Given the description of an element on the screen output the (x, y) to click on. 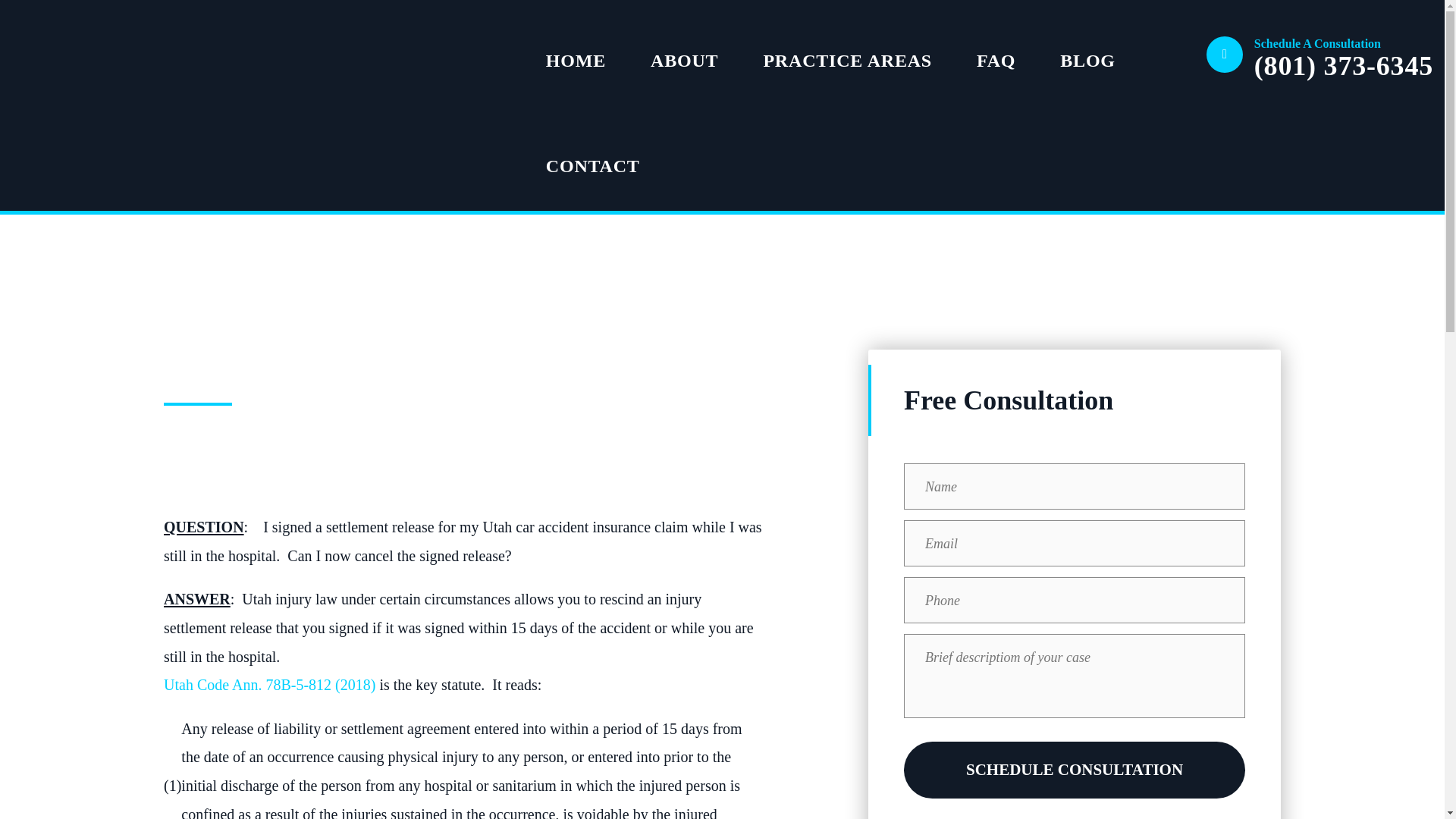
Utah County Personal Injury Lawyer (73, 38)
CONTACT (592, 157)
Schedule Consultation (1074, 770)
ABOUT (684, 52)
Schedule Consultation (1074, 770)
PRACTICE AREAS (847, 52)
